Given the description of an element on the screen output the (x, y) to click on. 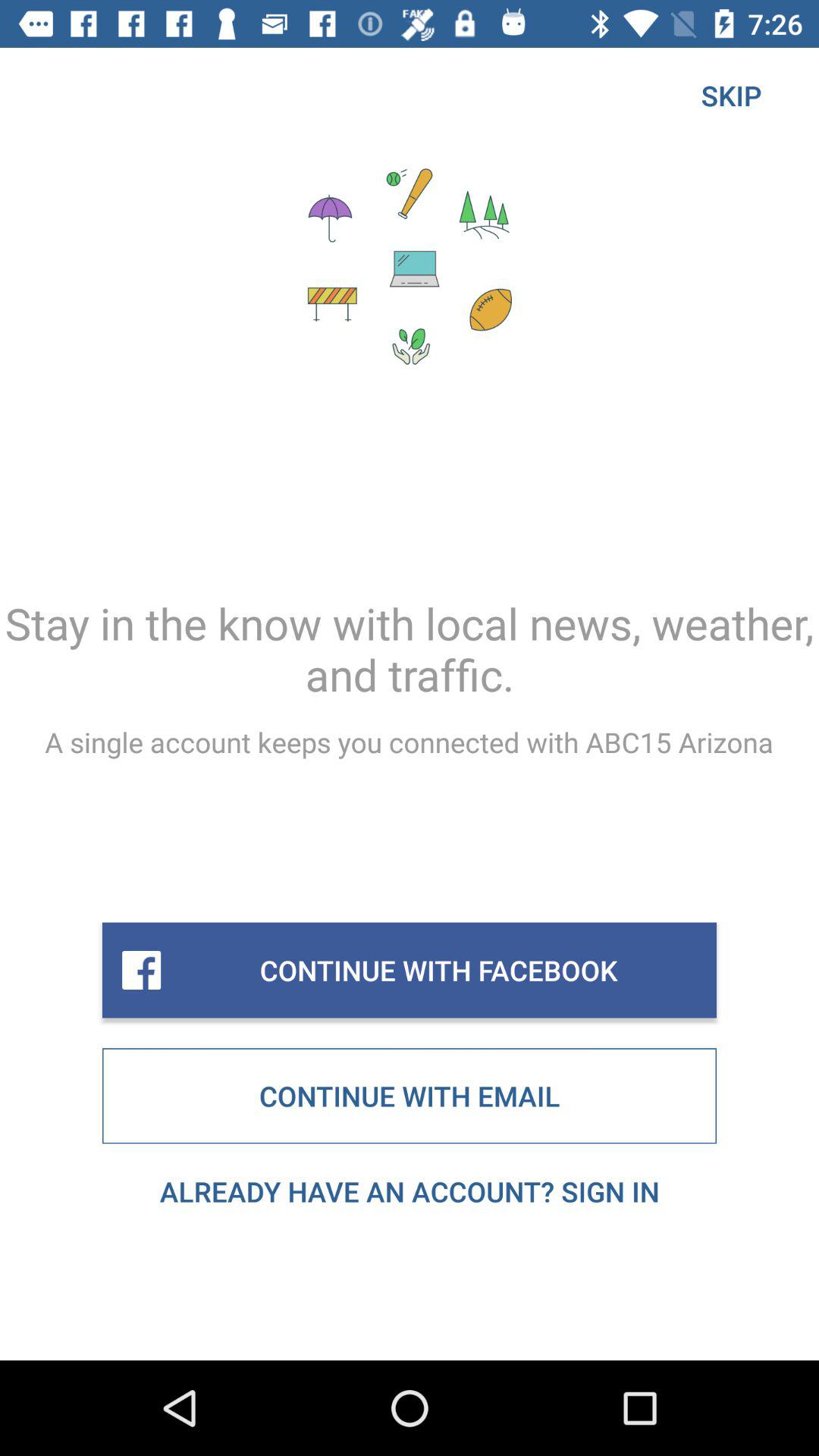
press the skip icon (731, 95)
